Given the description of an element on the screen output the (x, y) to click on. 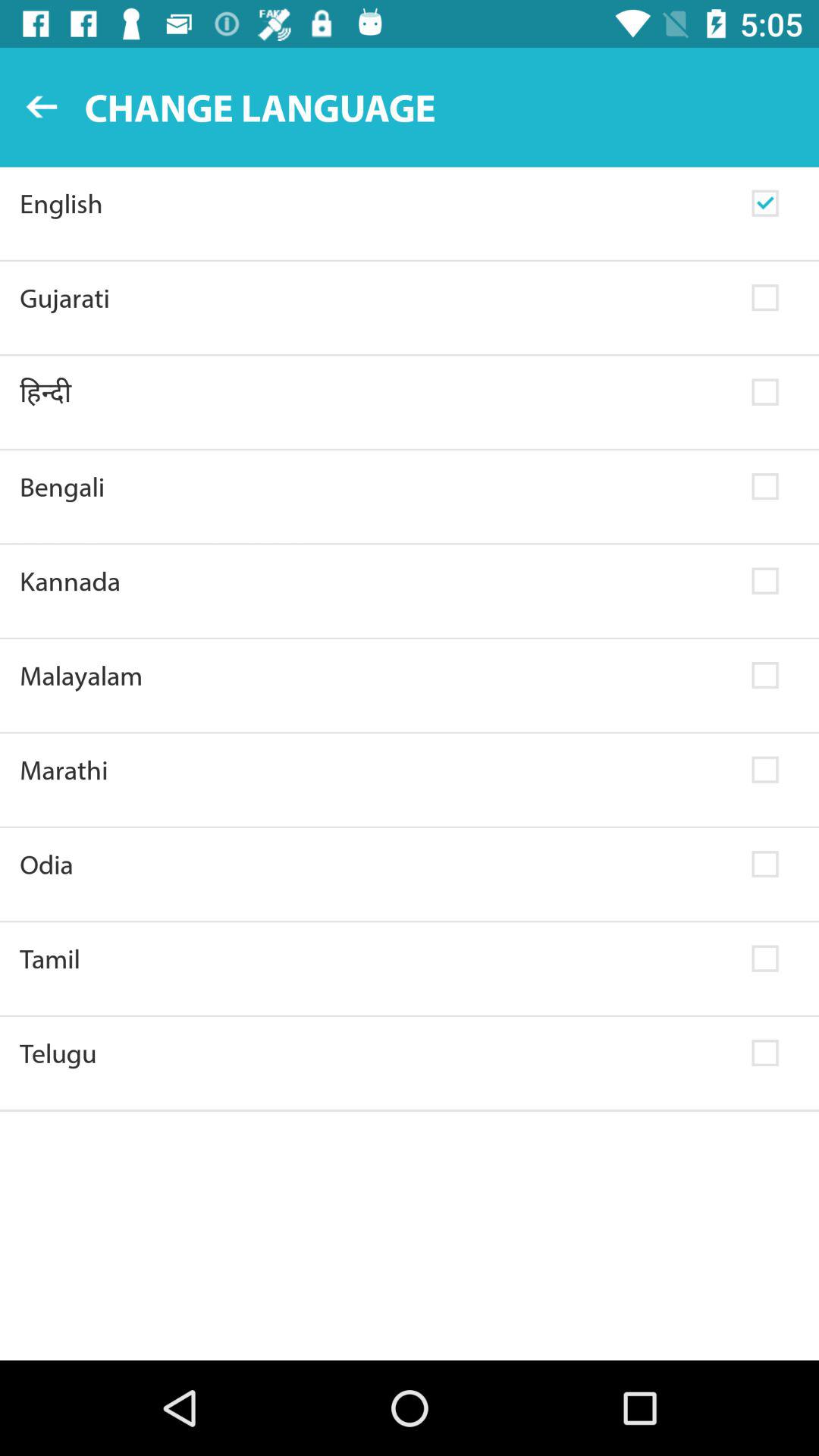
jump to telugu item (375, 1052)
